Given the description of an element on the screen output the (x, y) to click on. 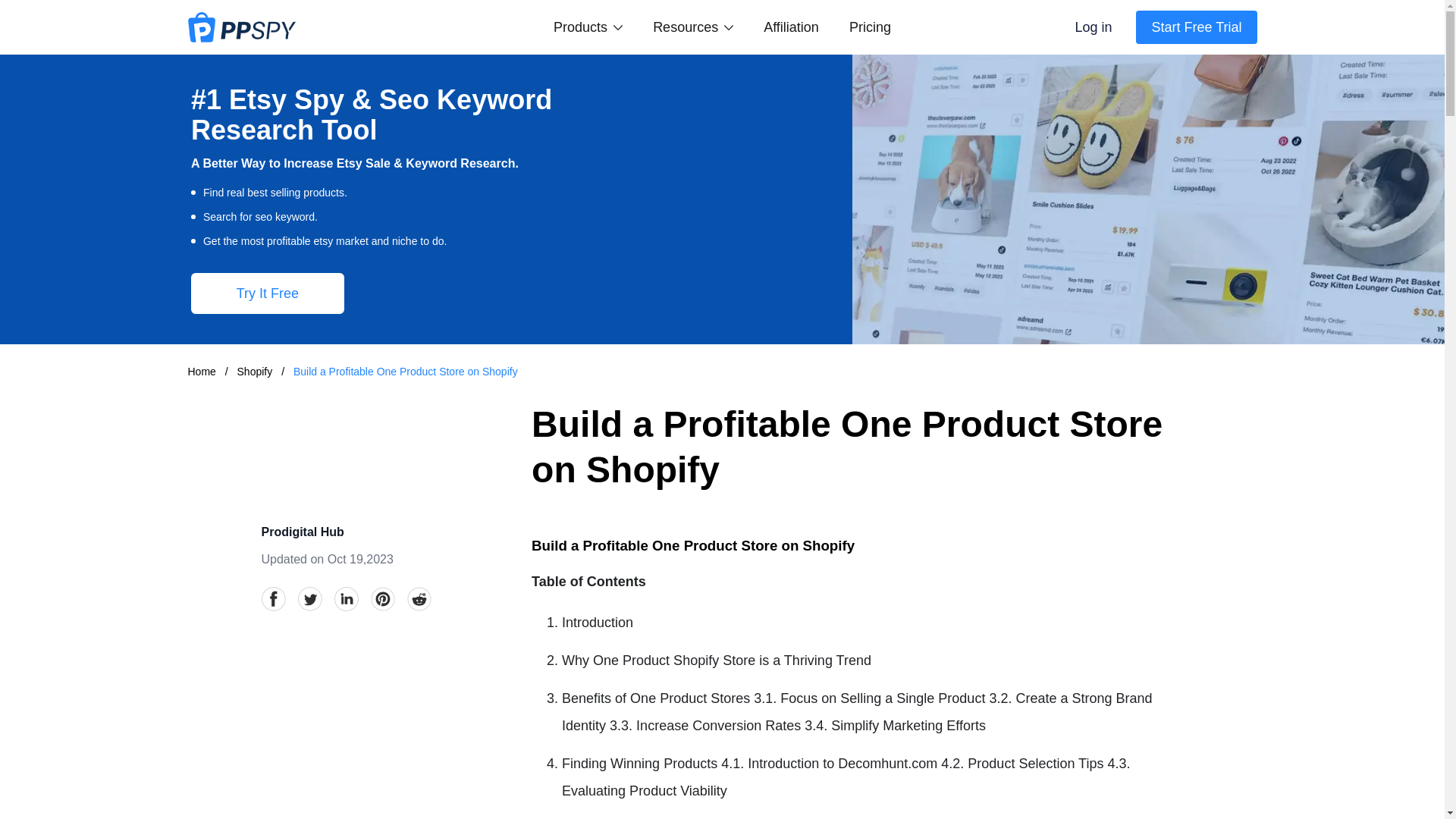
Home (201, 371)
Shopify (256, 371)
Affiliation (790, 27)
Prodigital Hub (301, 531)
Log in (1093, 27)
Pricing (869, 27)
facebook (272, 598)
Start Free Trial (1195, 27)
Try It Free (266, 292)
reddit (418, 598)
pinterest (381, 598)
Twitter (309, 598)
linkedin (345, 598)
